Given the description of an element on the screen output the (x, y) to click on. 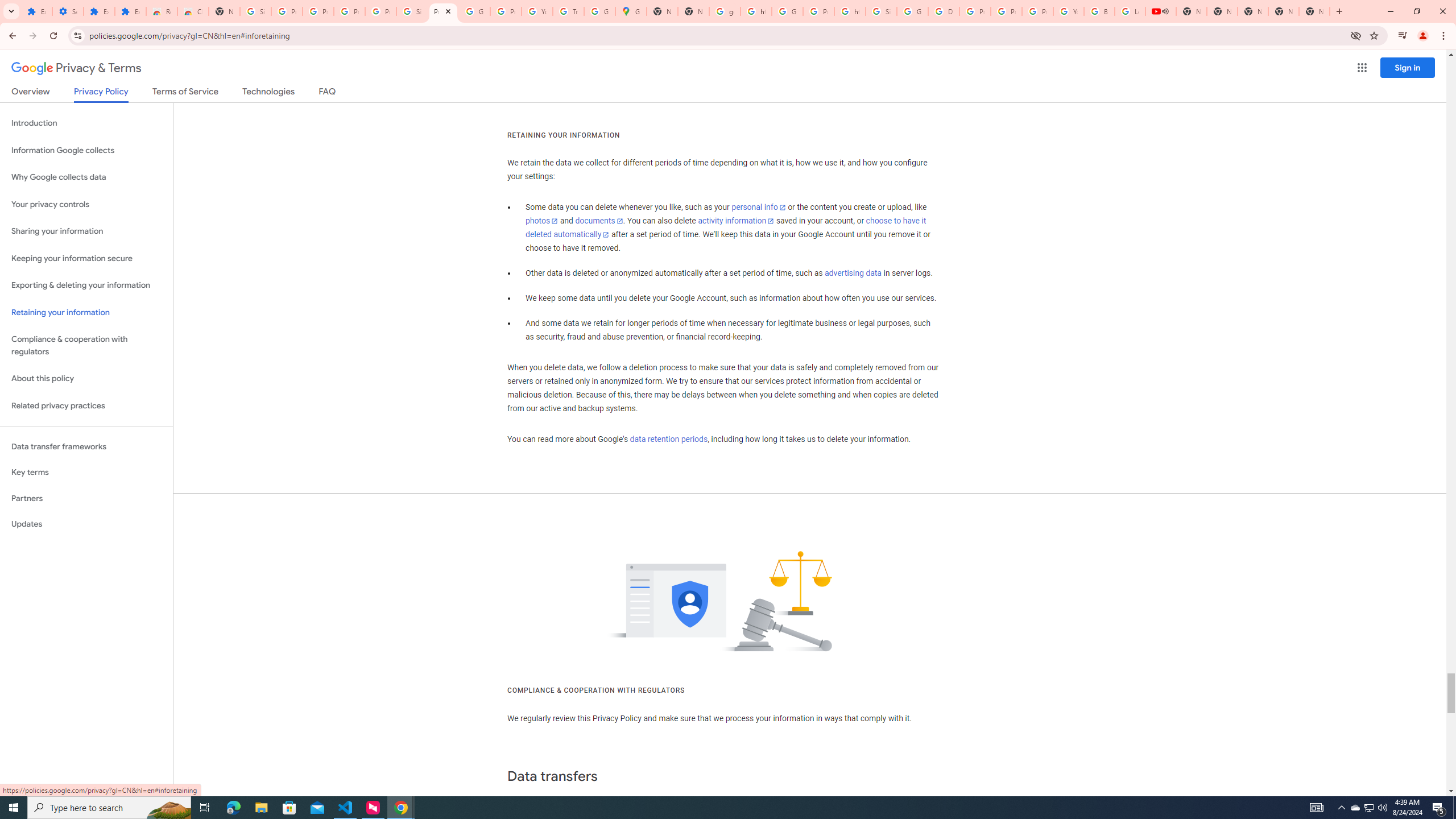
About this policy (86, 379)
Related privacy practices (86, 405)
Privacy & Terms (76, 68)
Updates (86, 524)
Keeping your information secure (86, 258)
Extensions (36, 11)
choose to have it deleted automatically (725, 227)
New Tab (693, 11)
Sign in - Google Accounts (411, 11)
Sharing your information (86, 230)
Your privacy controls (86, 204)
photos (542, 221)
